Given the description of an element on the screen output the (x, y) to click on. 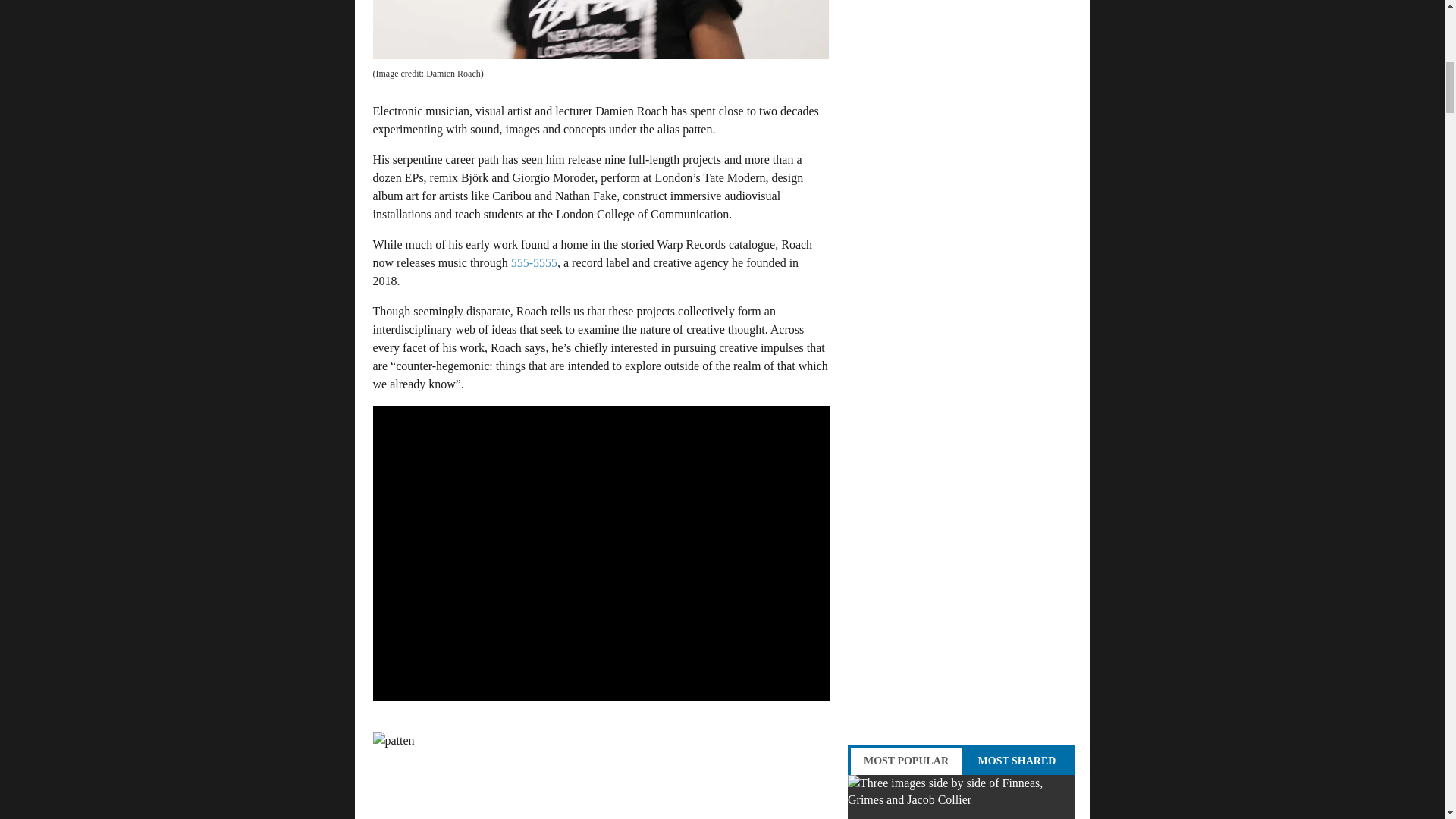
Which audio interfaces do the pros use? (961, 796)
